Given the description of an element on the screen output the (x, y) to click on. 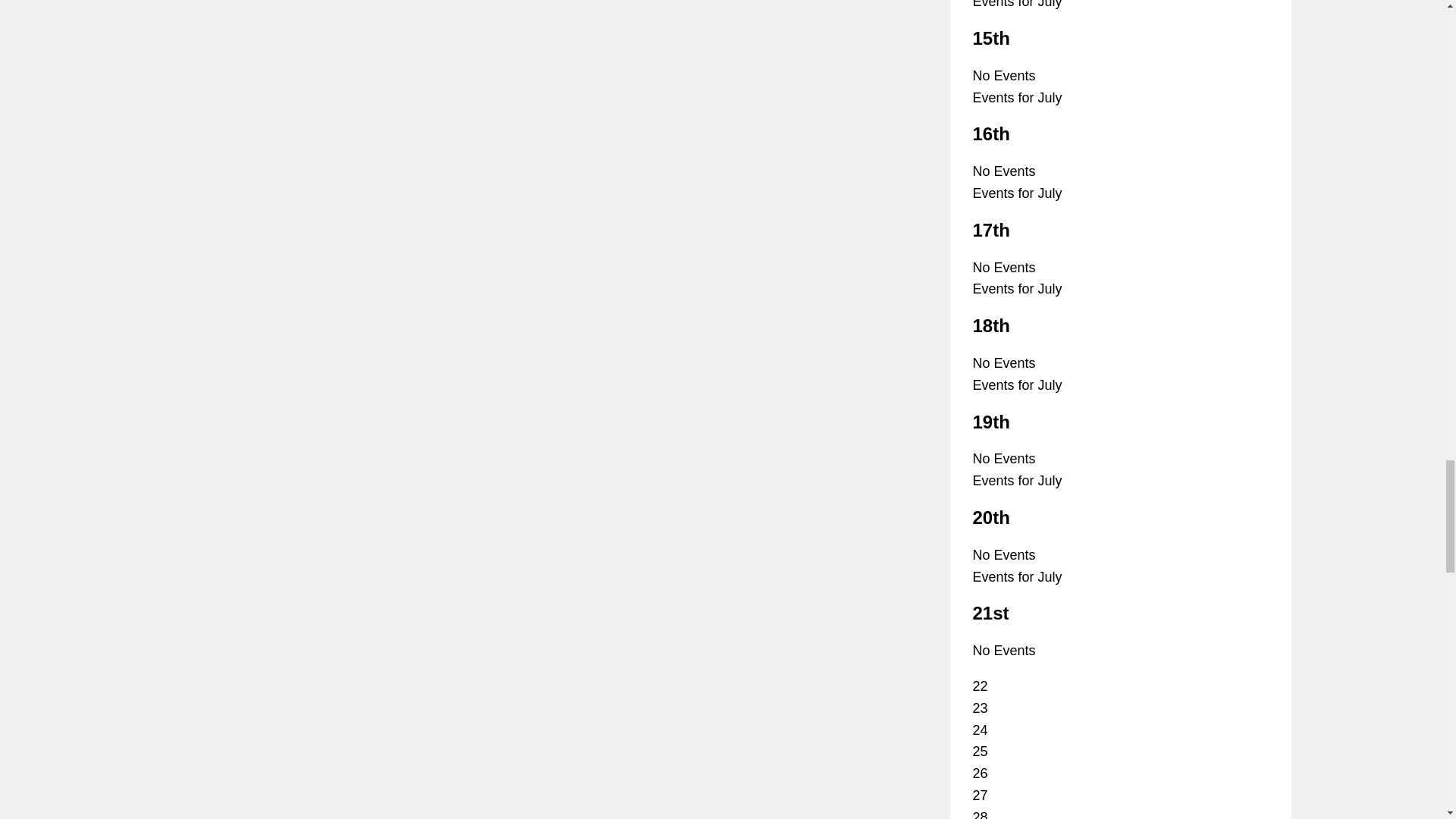
28 (979, 814)
